Given the description of an element on the screen output the (x, y) to click on. 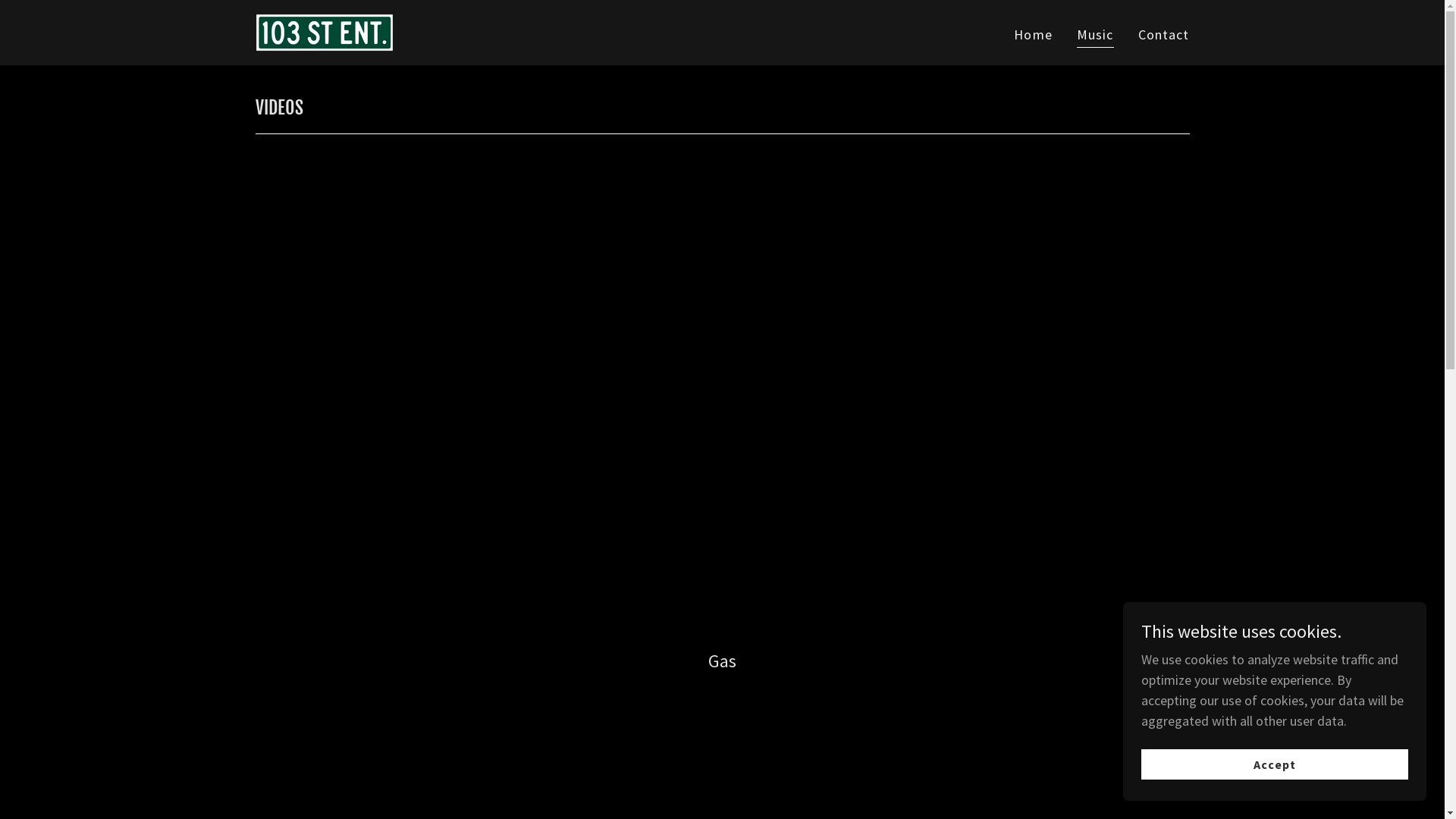
Music Element type: text (1094, 36)
Contact Element type: text (1163, 34)
103rdstshop Element type: hover (323, 30)
Home Element type: text (1033, 34)
Accept Element type: text (1274, 764)
